Given the description of an element on the screen output the (x, y) to click on. 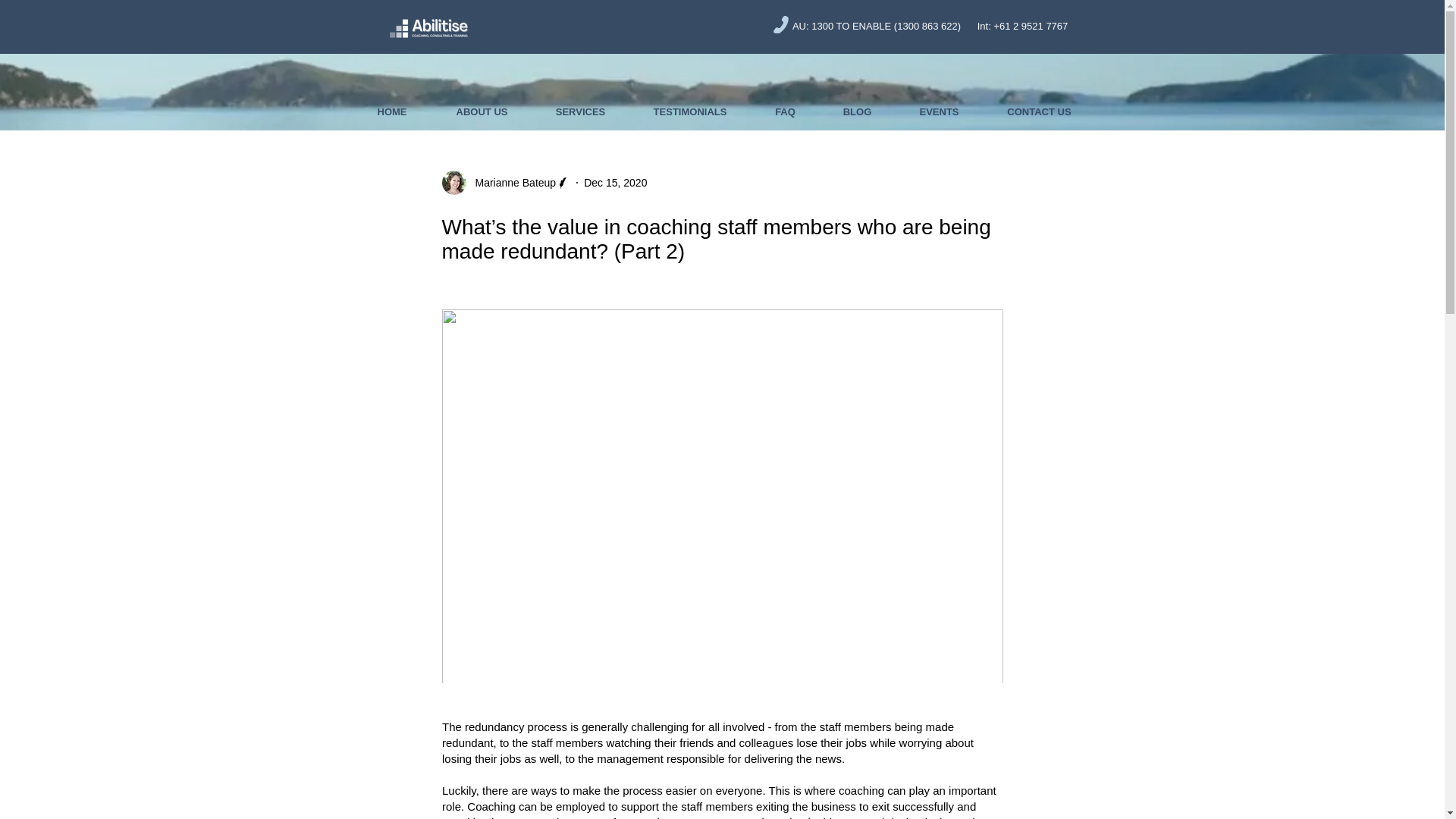
CONTACT US (1038, 112)
EVENTS (938, 112)
Abilitise-white-logo.png (428, 26)
HOME (391, 112)
BLOG (856, 112)
TESTIMONIALS (689, 112)
ABOUT US (482, 112)
FAQ (784, 112)
Marianne Bateup (510, 182)
Dec 15, 2020 (614, 182)
